Given the description of an element on the screen output the (x, y) to click on. 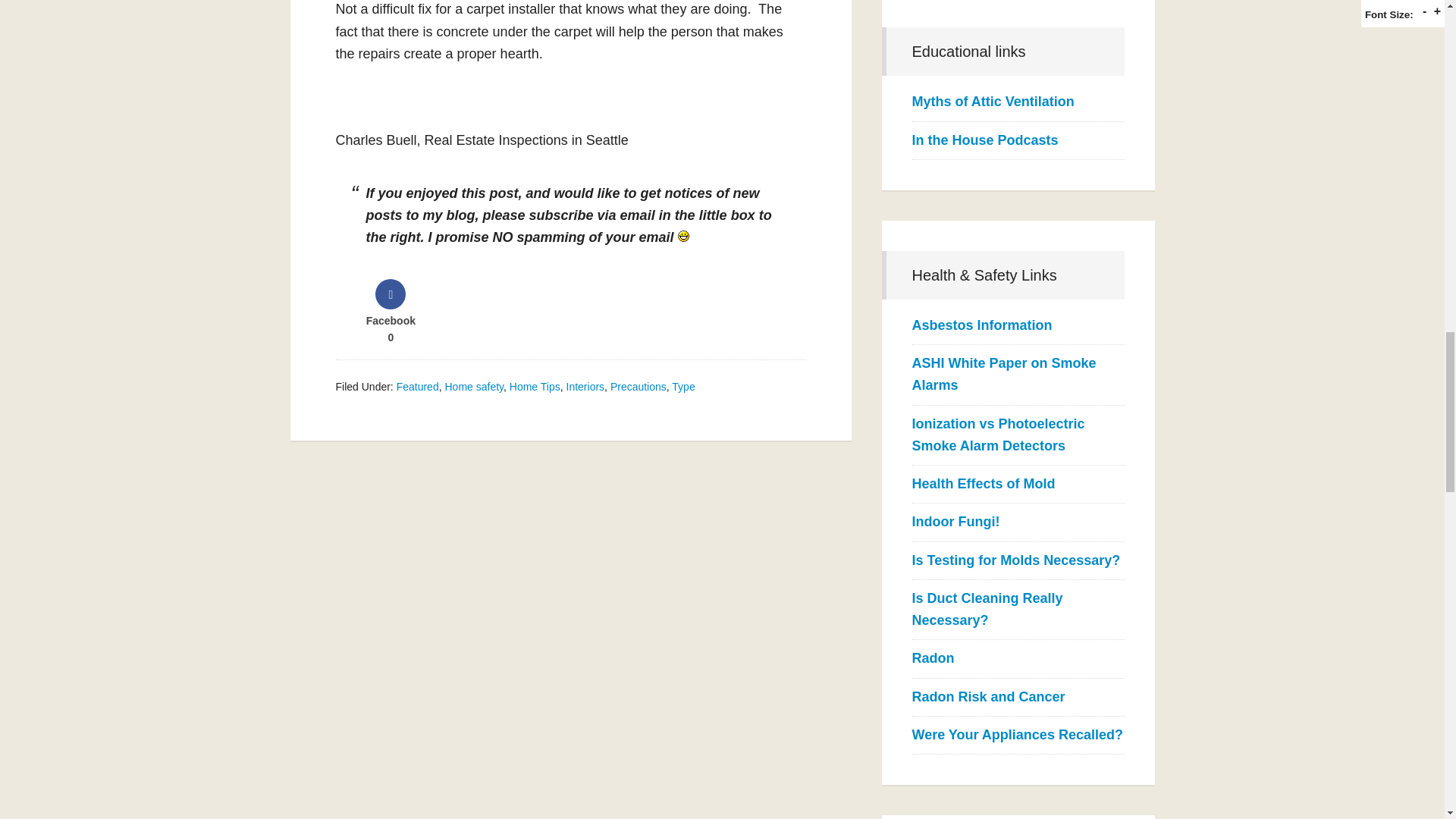
Home Tips (534, 386)
Home safety (473, 386)
Precautions (638, 386)
Health Effects of Mold (982, 483)
Type (682, 386)
Ionization vs Photoelectric Smoke Alarm Detectors (997, 434)
Radon Risk and Cancer (987, 696)
Featured (417, 386)
Indoor Fungi! (954, 521)
Radon (932, 657)
Interiors (585, 386)
ASHI White Paper on Smoke Alarms (1003, 374)
In the House Podcasts (984, 140)
Asbestos Information (981, 324)
